Given the description of an element on the screen output the (x, y) to click on. 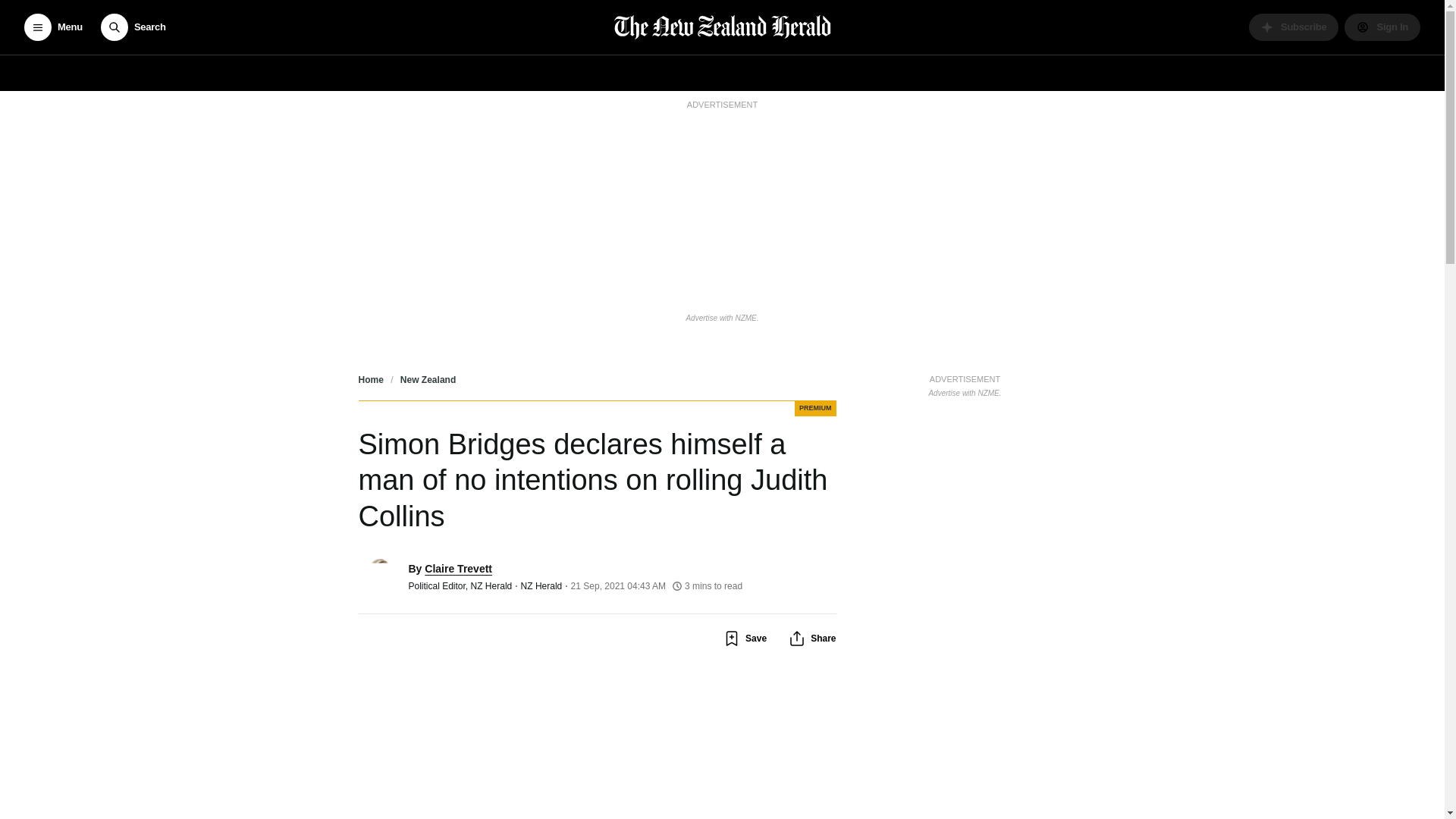
Menu (53, 26)
Search (132, 26)
Subscribe (1294, 26)
Sign In (1382, 26)
Manage your account (1382, 26)
